Given the description of an element on the screen output the (x, y) to click on. 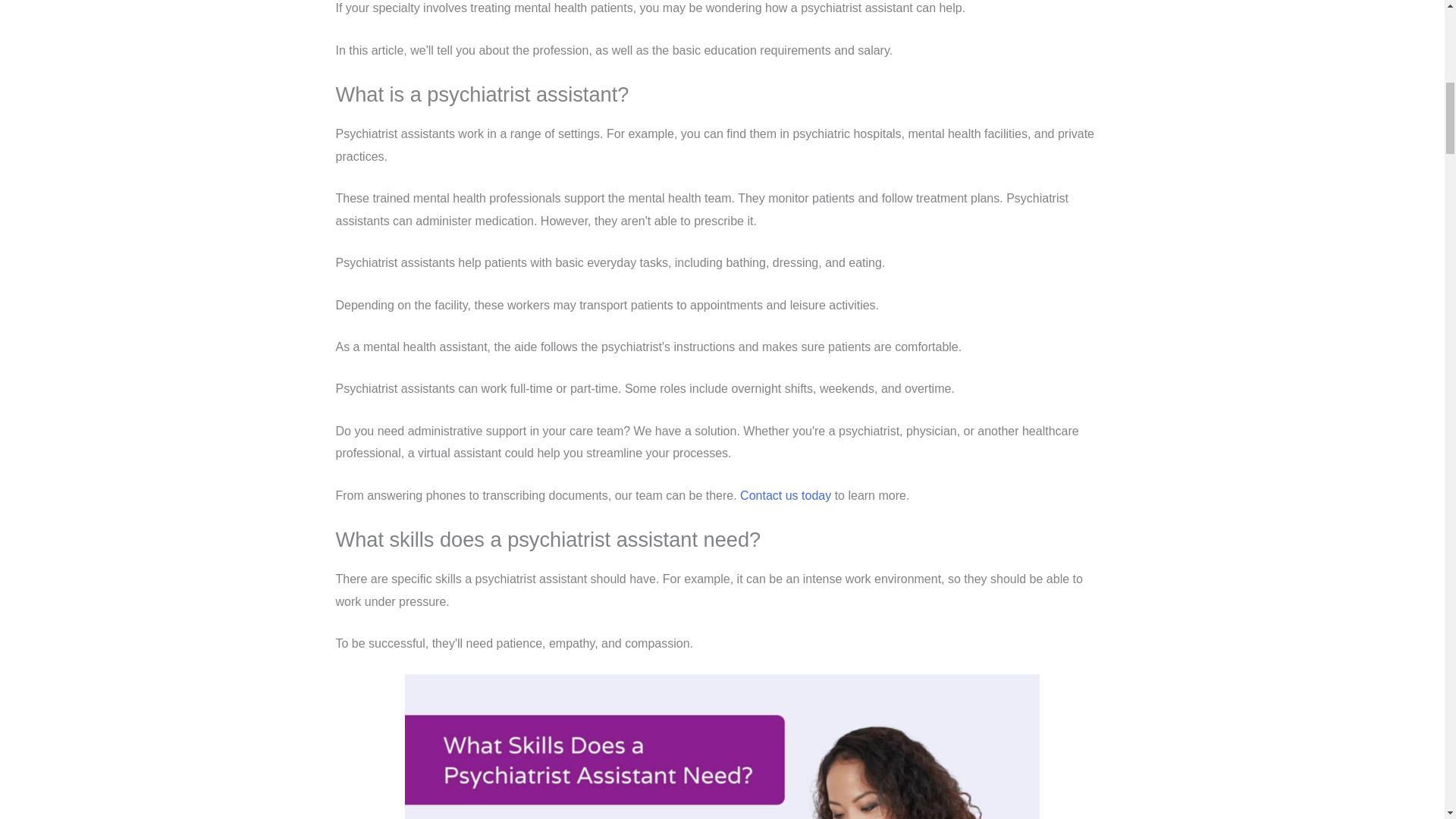
Psychiatric Assistant Skills (721, 746)
